Given the description of an element on the screen output the (x, y) to click on. 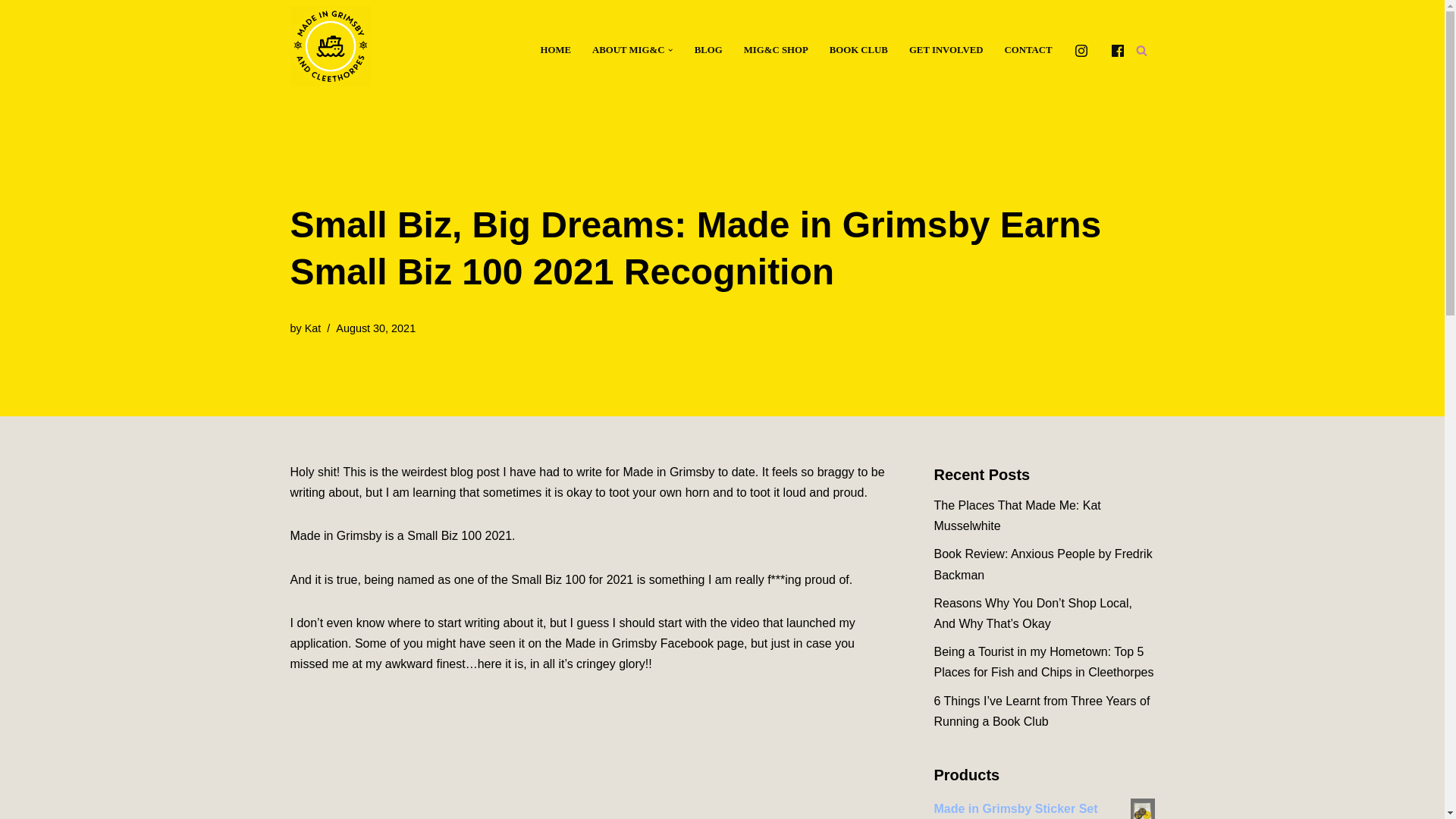
BLOG (708, 49)
The Places That Made Me: Kat Musselwhite (1017, 515)
Kat (312, 328)
CONTACT (1027, 49)
GET INVOLVED (946, 49)
Book Review: Anxious People by Fredrik Backman (1043, 563)
YouTube embed (588, 757)
Posts by Kat (312, 328)
BOOK CLUB (858, 49)
